Given the description of an element on the screen output the (x, y) to click on. 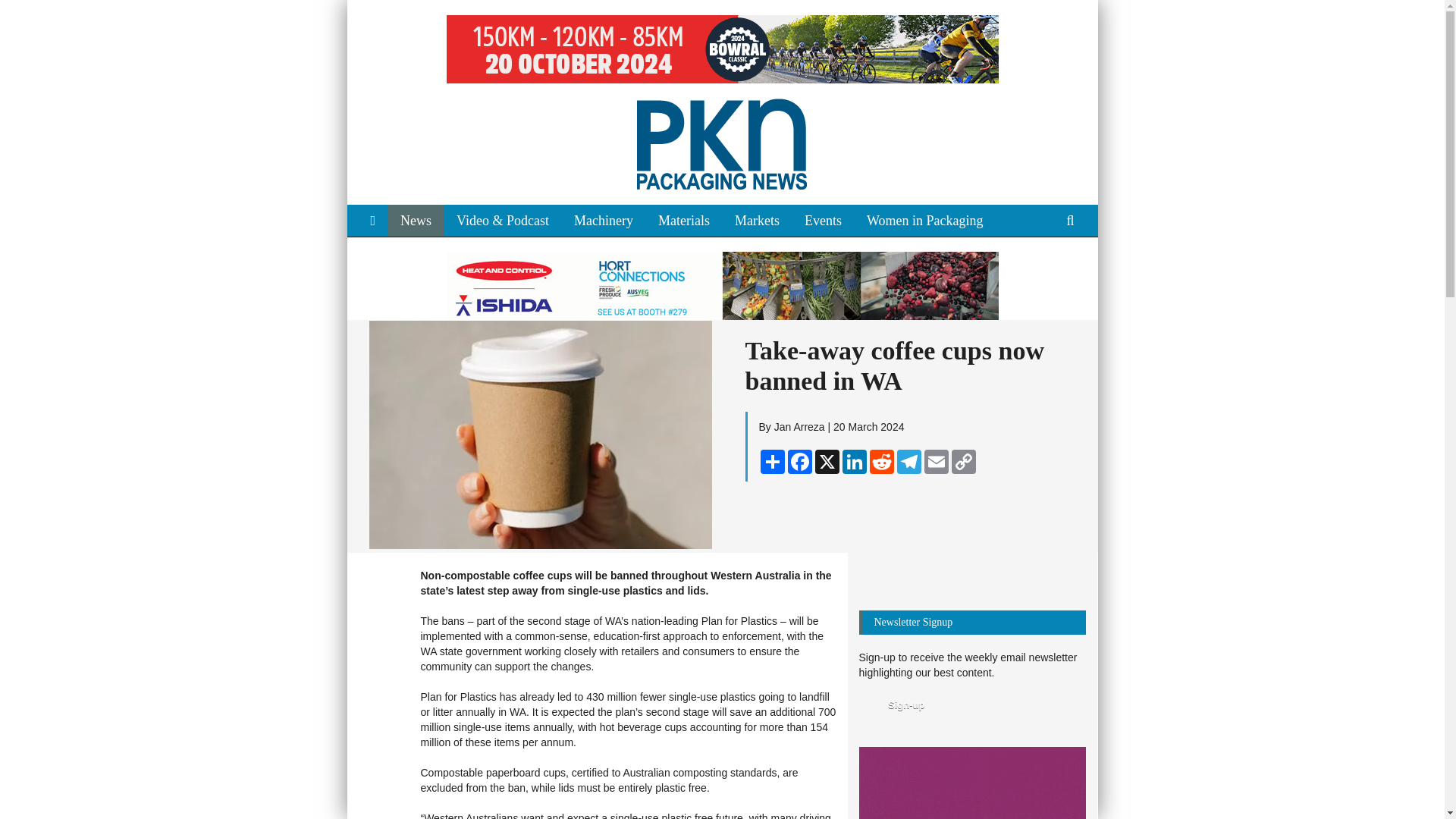
News (416, 220)
Machinery (603, 220)
Markets (757, 220)
Home (372, 220)
Events (822, 220)
Materials (684, 220)
Preview (895, 705)
